Given the description of an element on the screen output the (x, y) to click on. 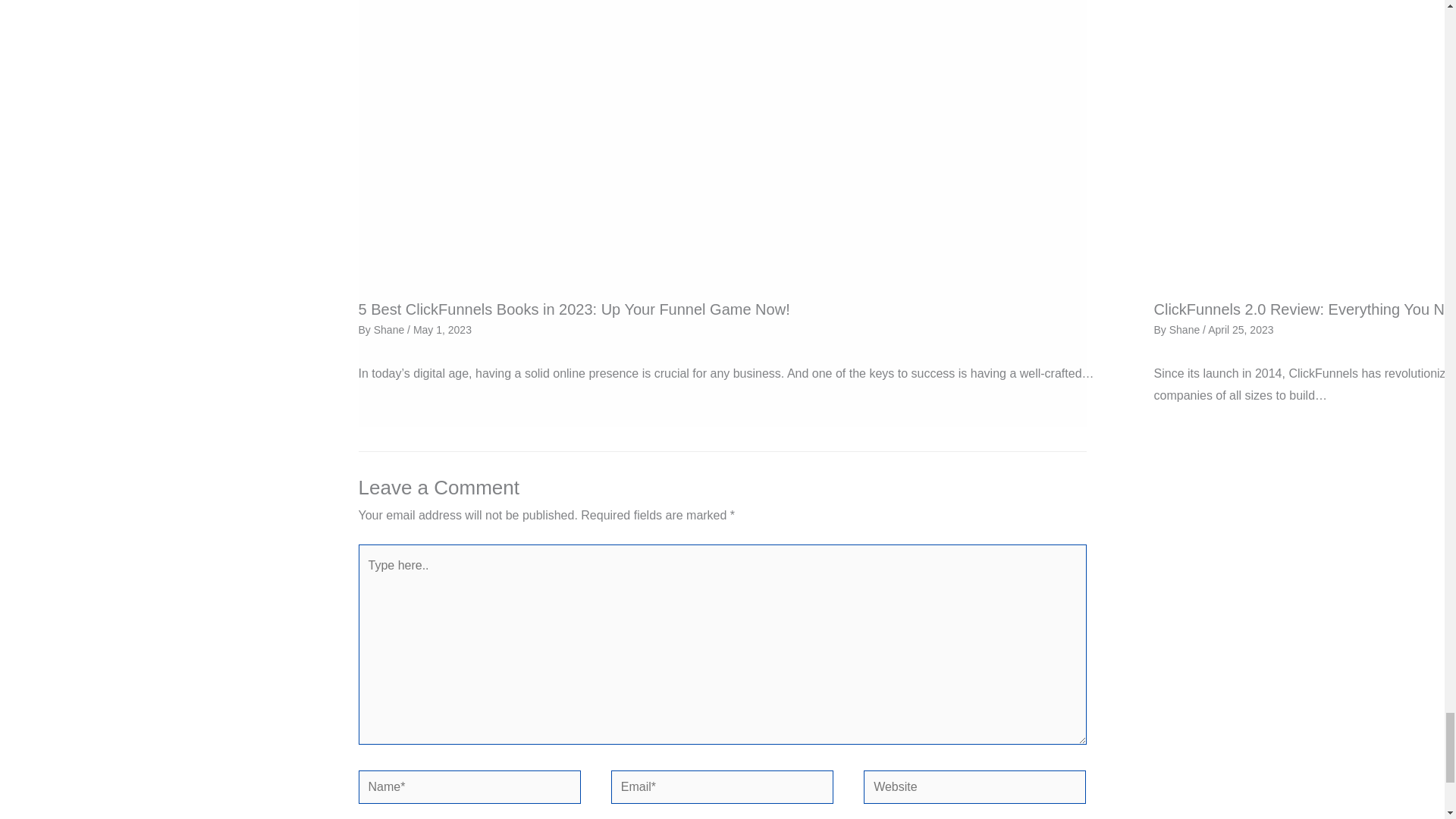
View all posts by Shane (1185, 329)
Shane (390, 329)
View all posts by Shane (390, 329)
5 Best ClickFunnels Books in 2023: Up Your Funnel Game Now! (573, 309)
